Given the description of an element on the screen output the (x, y) to click on. 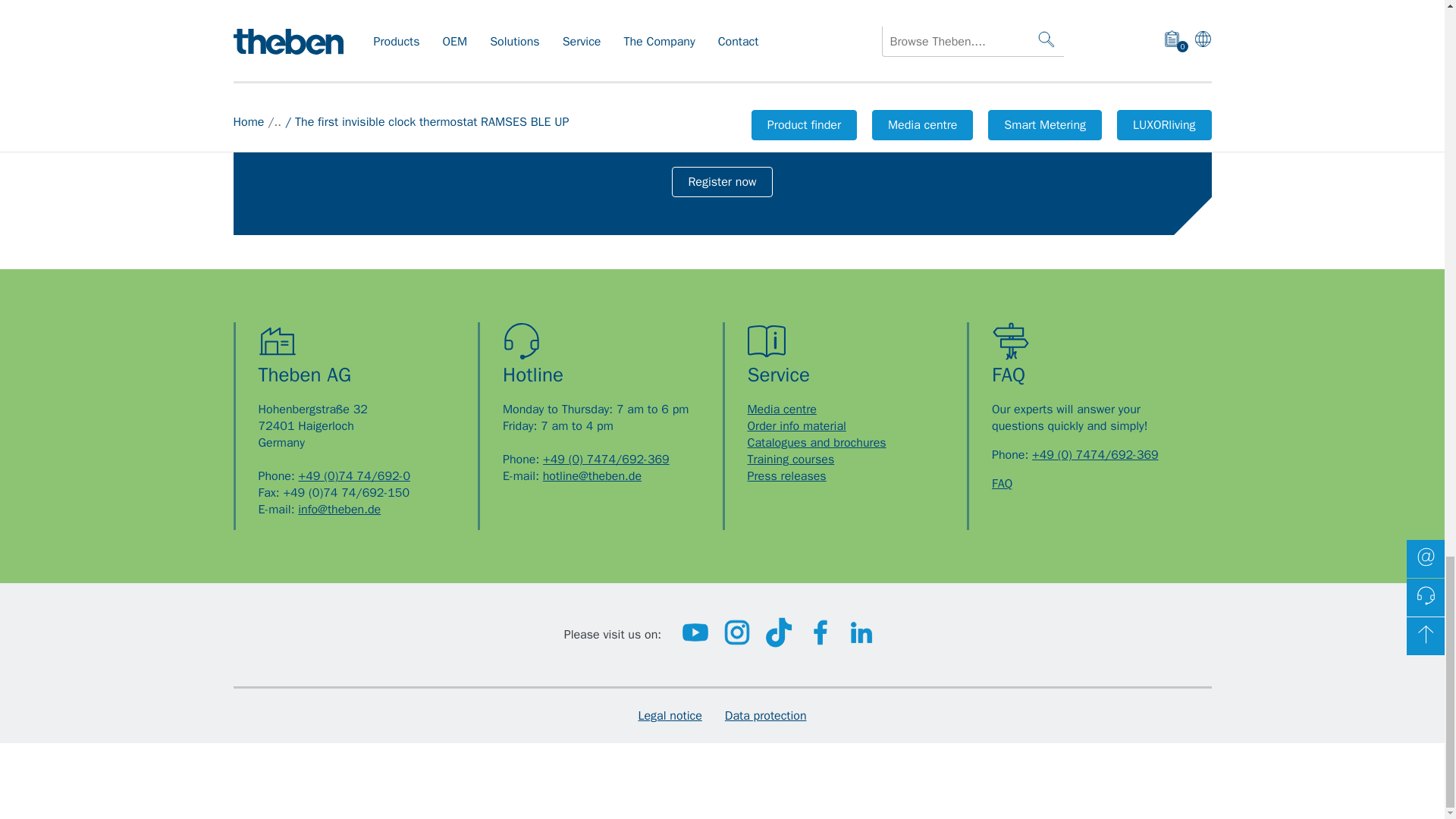
Hotline and FAQs (1001, 483)
Contact (1095, 454)
Youtube (695, 643)
Facebook (821, 643)
TikTok (778, 643)
linkedin (861, 643)
Catalogues and brochures (817, 442)
Press releases (787, 476)
Instagram (736, 643)
 Order info material (796, 426)
